Given the description of an element on the screen output the (x, y) to click on. 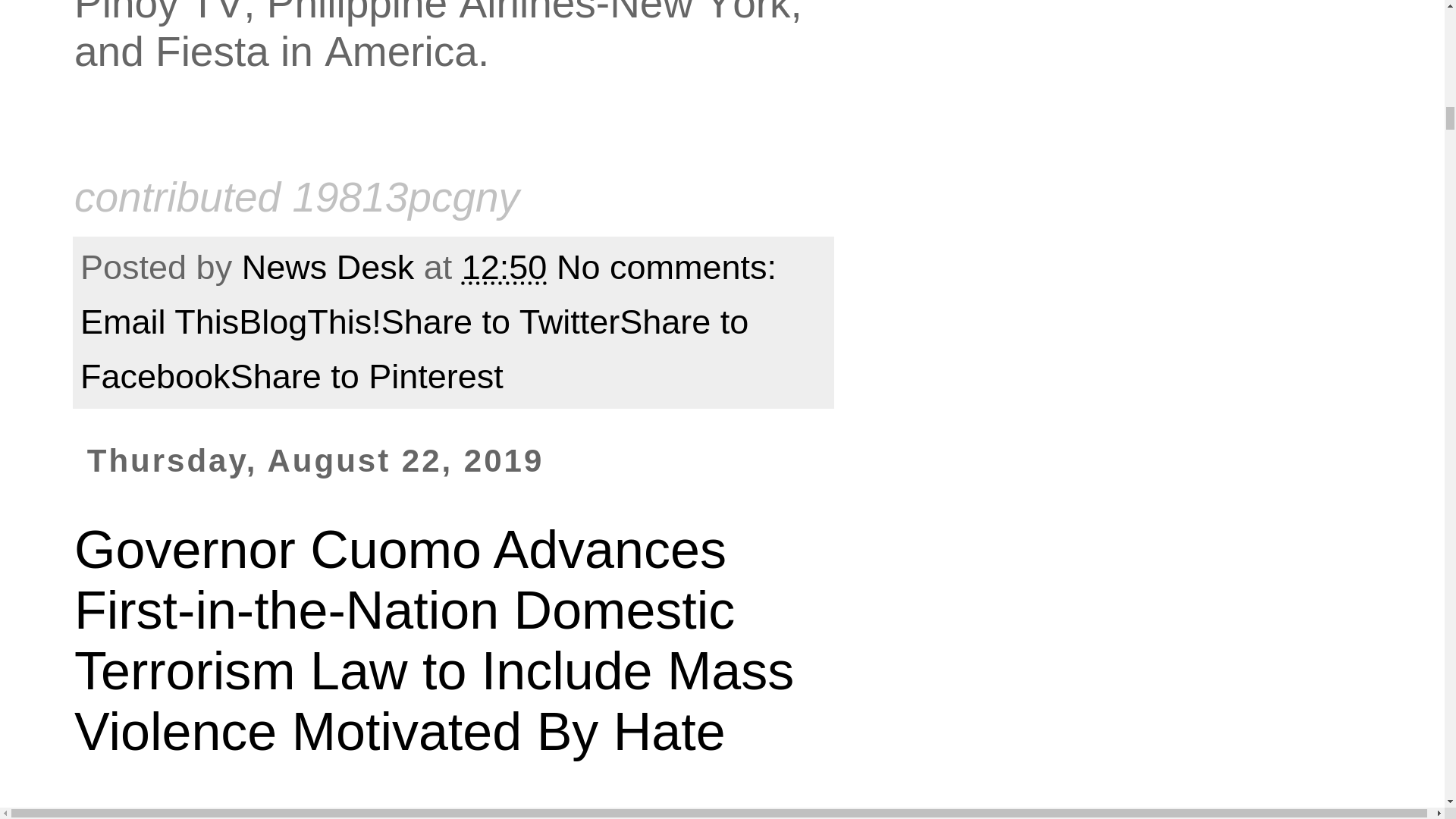
12:50 (504, 267)
Share to Facebook (414, 348)
BlogThis! (309, 321)
Email This (159, 321)
author profile (332, 267)
permanent link (504, 267)
Share to Pinterest (366, 376)
Share to Twitter (500, 321)
No comments: (671, 267)
News Desk (332, 267)
